Given the description of an element on the screen output the (x, y) to click on. 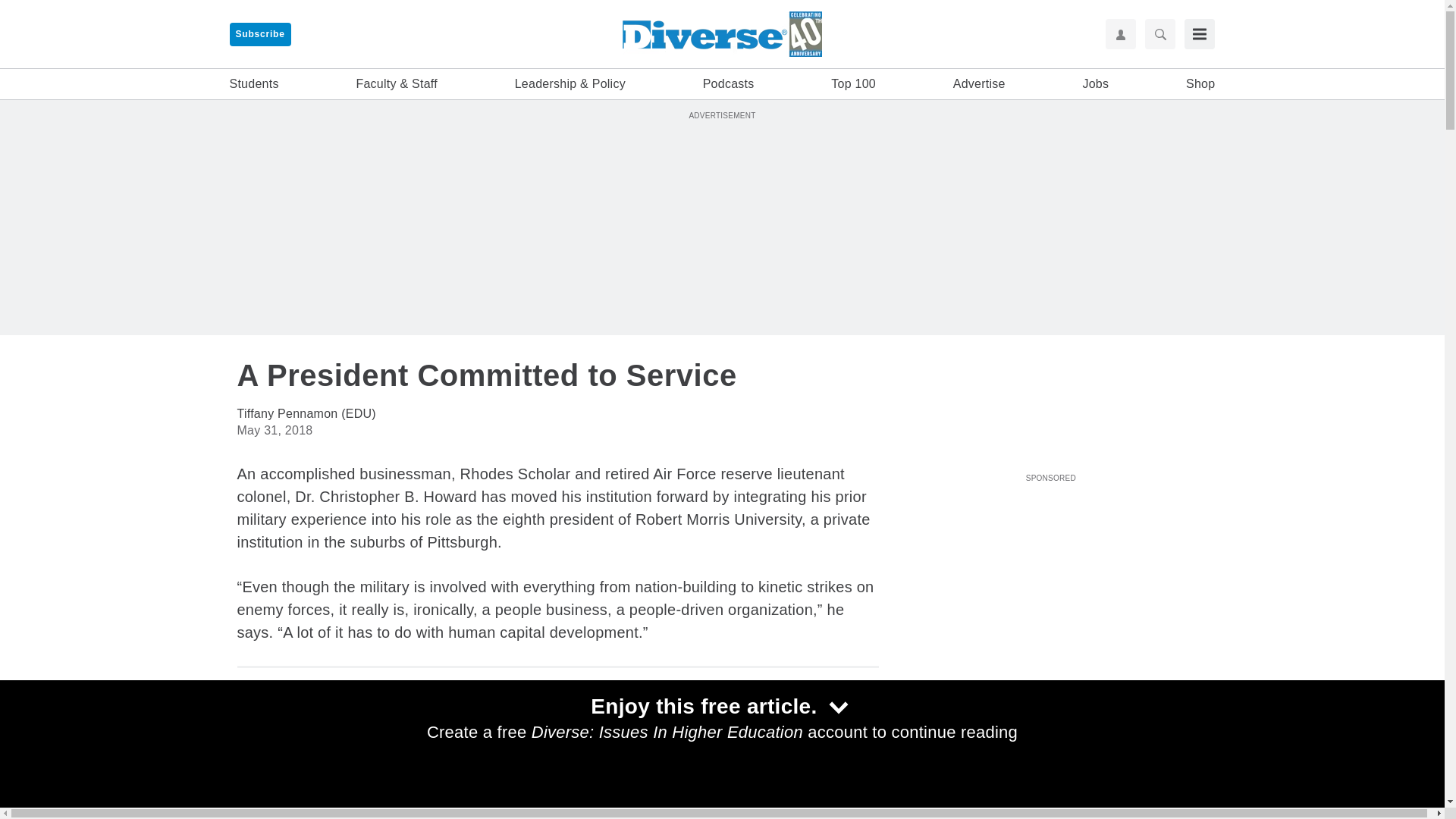
Jobs (1094, 84)
Youtube Player (1050, 572)
Institutions (932, 743)
Podcasts (728, 84)
Shop (1200, 84)
Subscribe (258, 33)
Subscribe (258, 33)
Advertise (979, 84)
Students (253, 84)
Top 100 (853, 84)
